Given the description of an element on the screen output the (x, y) to click on. 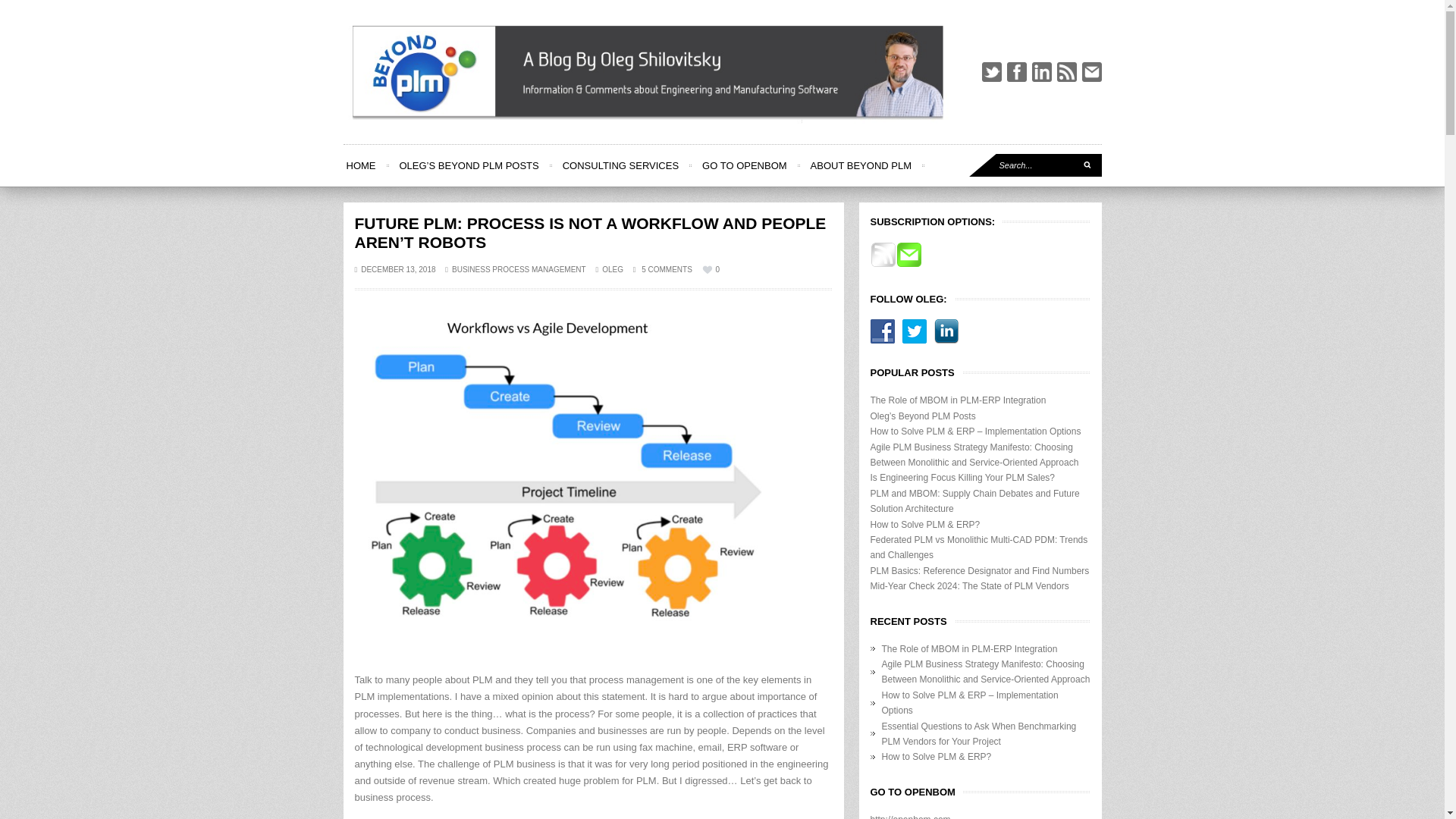
facebook (1016, 71)
mail (1090, 71)
Posts by Oleg (612, 269)
ABOUT BEYOND PLM (861, 165)
The Role of MBOM in PLM-ERP Integration (958, 399)
5 COMMENTS (667, 269)
Search... (1035, 164)
rss (1067, 71)
Search... (1035, 164)
OLEG (612, 269)
Like this (710, 269)
BUSINESS PROCESS MANAGEMENT (518, 269)
linkedin (1040, 71)
0 (710, 269)
Subscribe via Email (908, 264)
